Given the description of an element on the screen output the (x, y) to click on. 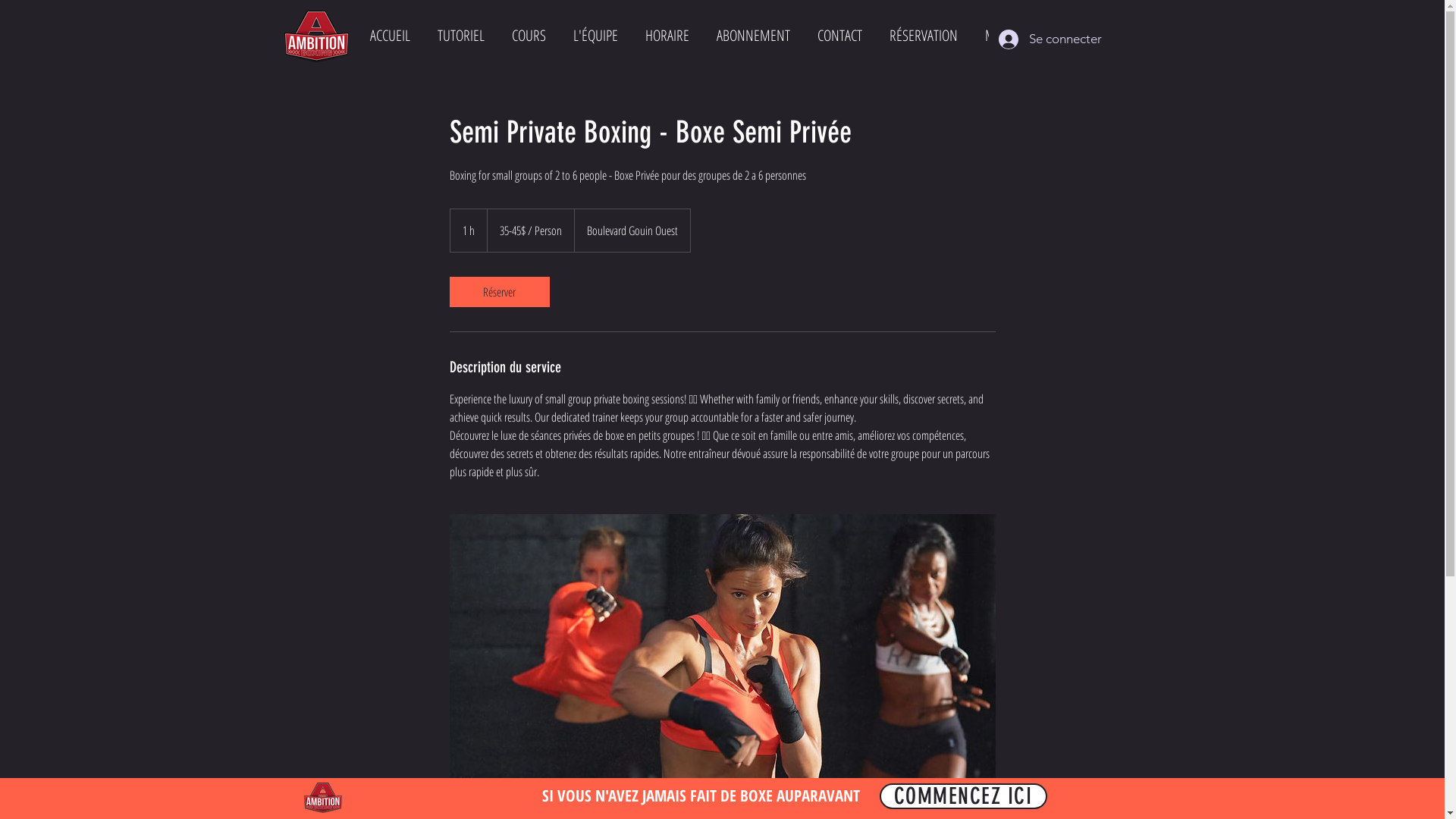
ABONNEMENT Element type: text (752, 37)
COMMENCEZ ICI Element type: text (963, 796)
HORAIRE Element type: text (666, 37)
TUTORIEL Element type: text (460, 37)
Boxing Classes Montreal Logo Element type: hover (322, 797)
Boxing Classes Montreal Element type: hover (315, 36)
Se connecter Element type: text (1031, 38)
COURS Element type: text (527, 37)
ACCUEIL Element type: text (389, 37)
CONTACT Element type: text (839, 37)
